Given the description of an element on the screen output the (x, y) to click on. 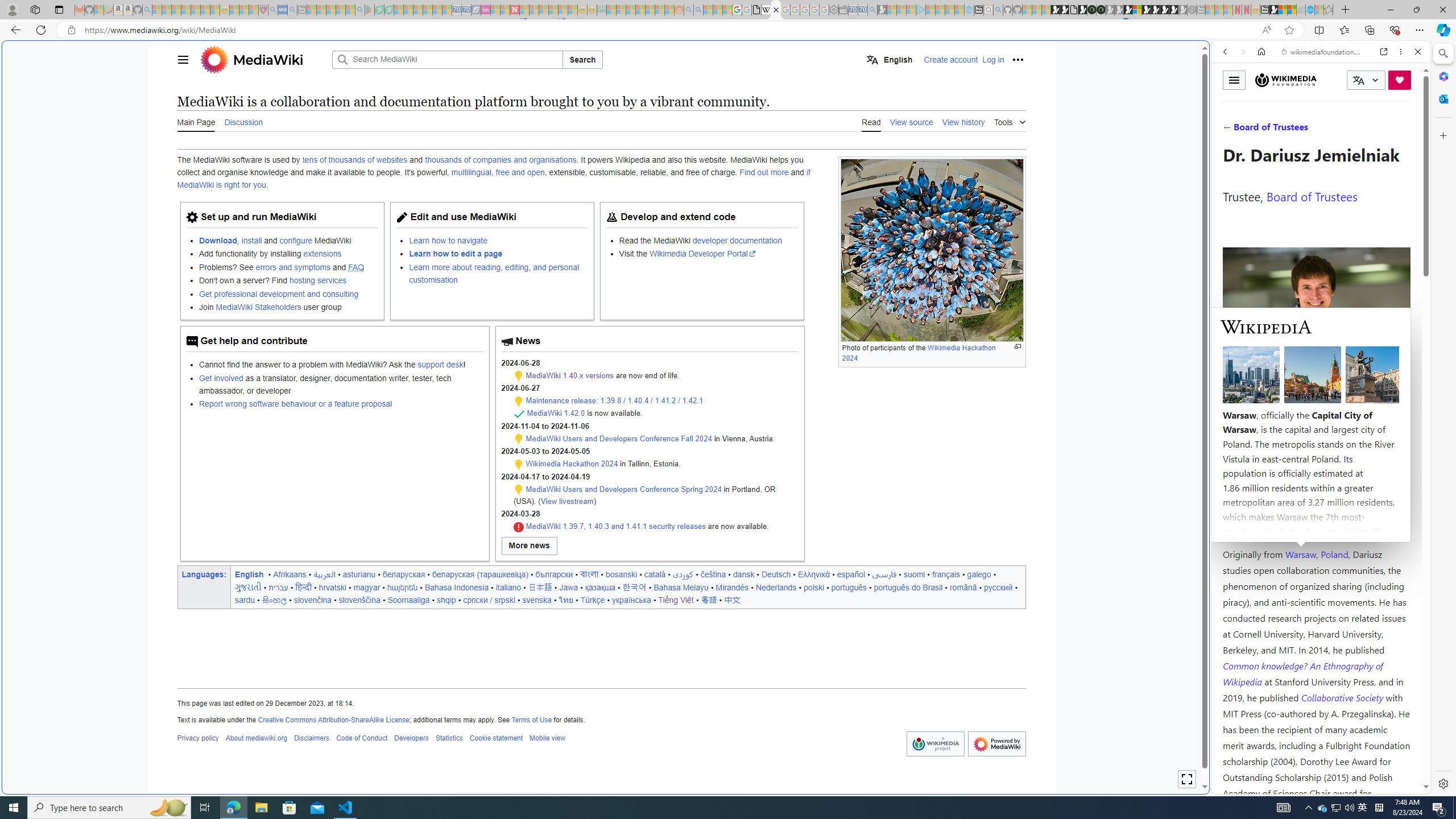
Code of Conduct (360, 738)
Search Filter, IMAGES (1262, 129)
View history (963, 120)
Creative Commons Attribution-ShareAlike License (333, 719)
configure (296, 239)
Frequently visited (965, 151)
